Given the description of an element on the screen output the (x, y) to click on. 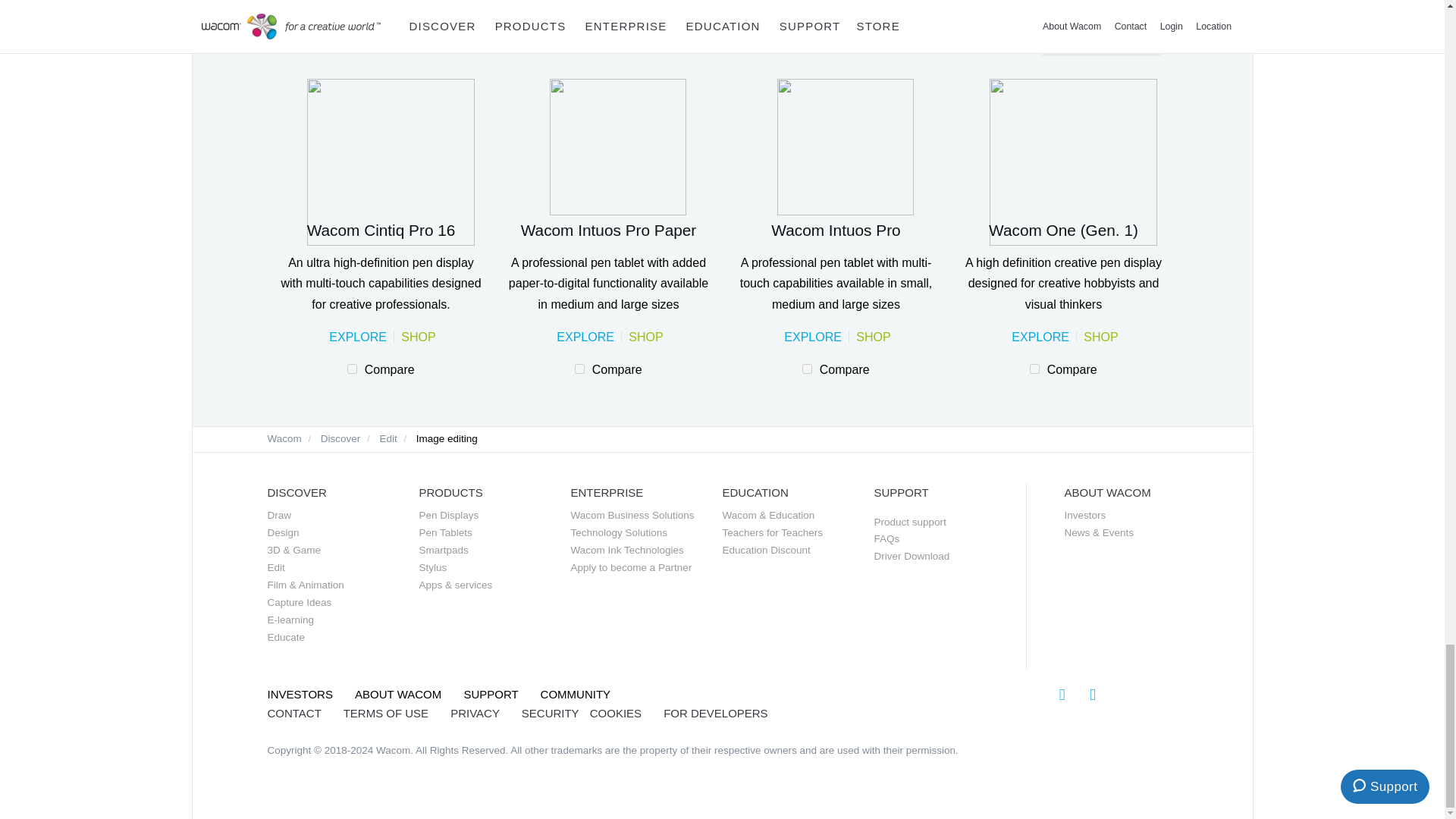
on (1034, 368)
on (580, 368)
on (807, 368)
on (351, 368)
Wacom's Facebook Page (1092, 693)
